Given the description of an element on the screen output the (x, y) to click on. 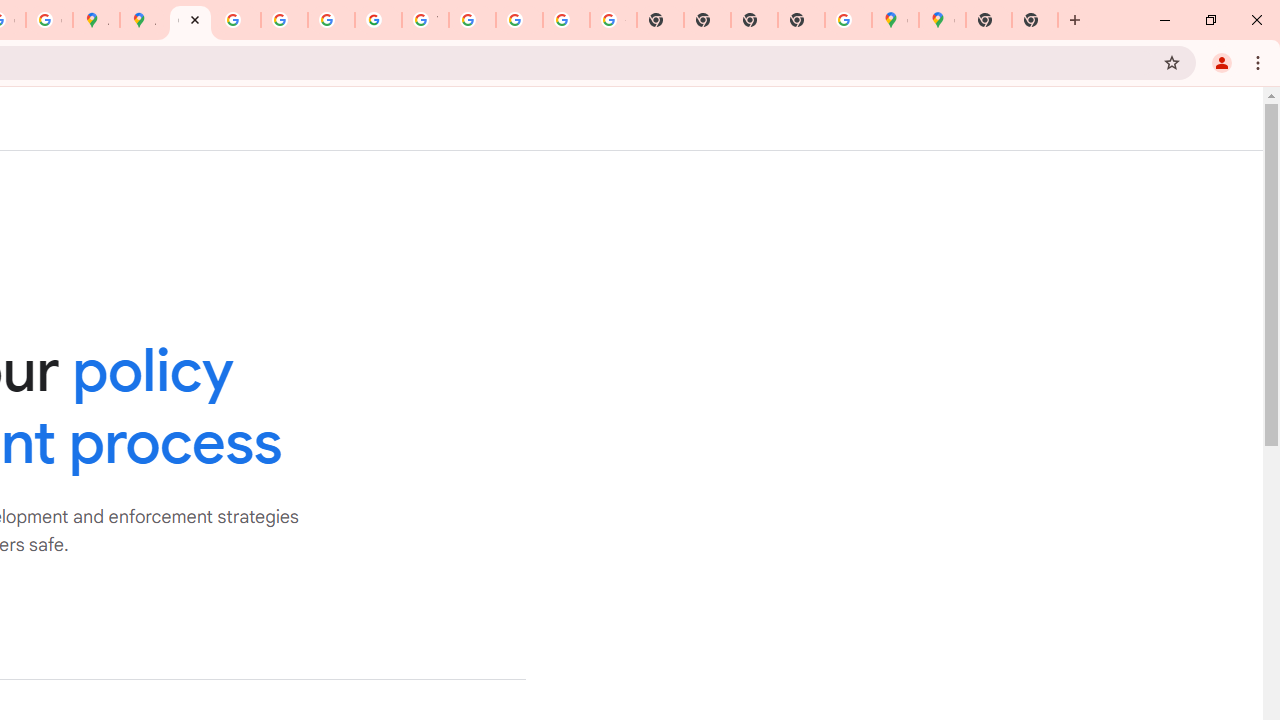
Google Maps (942, 20)
New Tab (989, 20)
New Tab (801, 20)
New Tab (1035, 20)
Google Maps (895, 20)
